Given the description of an element on the screen output the (x, y) to click on. 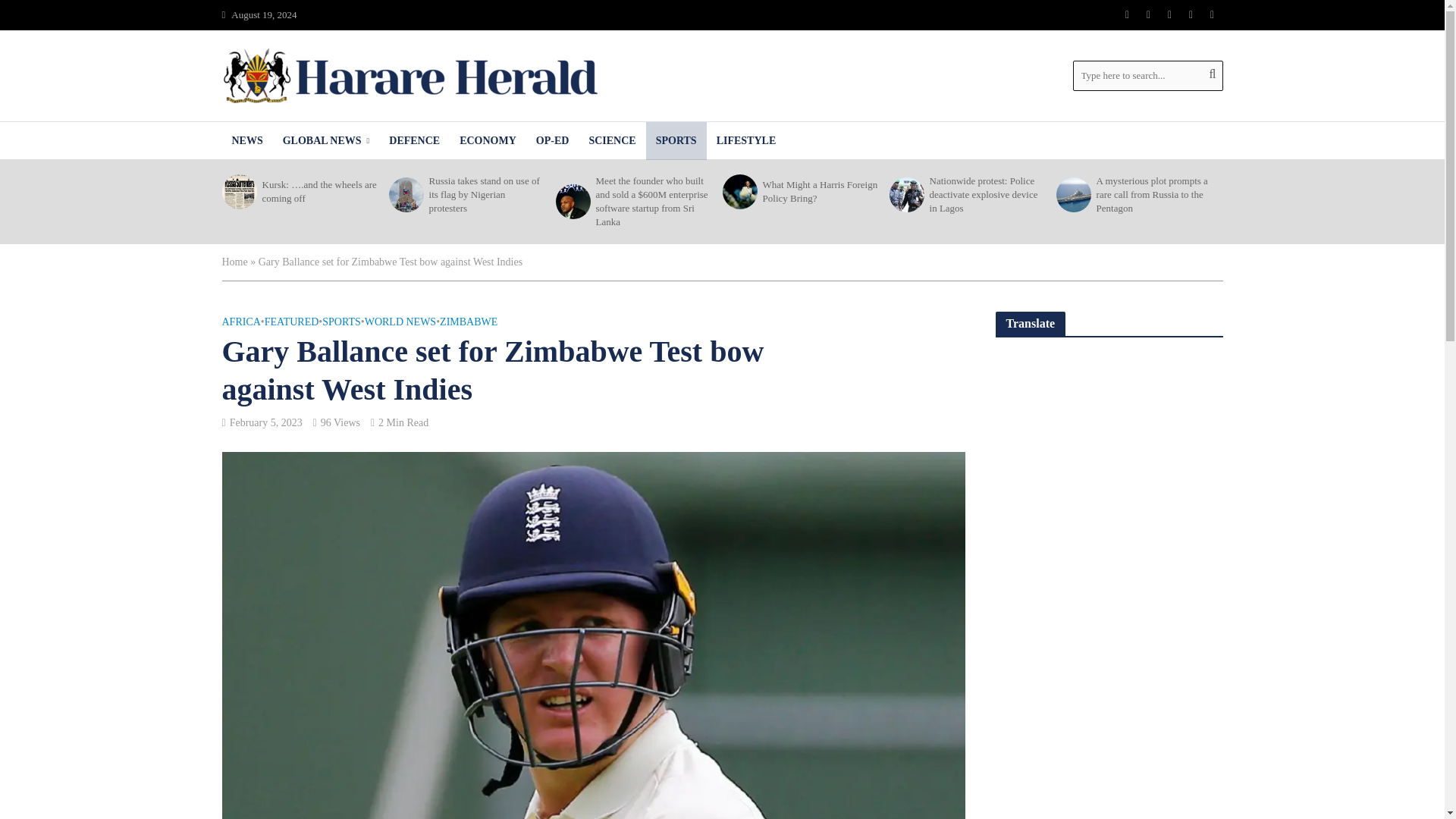
Russia takes stand on use of its flag by Nigerian protesters (404, 194)
GLOBAL NEWS (326, 140)
NEWS (246, 140)
What Might a Harris Foreign Policy Bring? (738, 191)
